Given the description of an element on the screen output the (x, y) to click on. 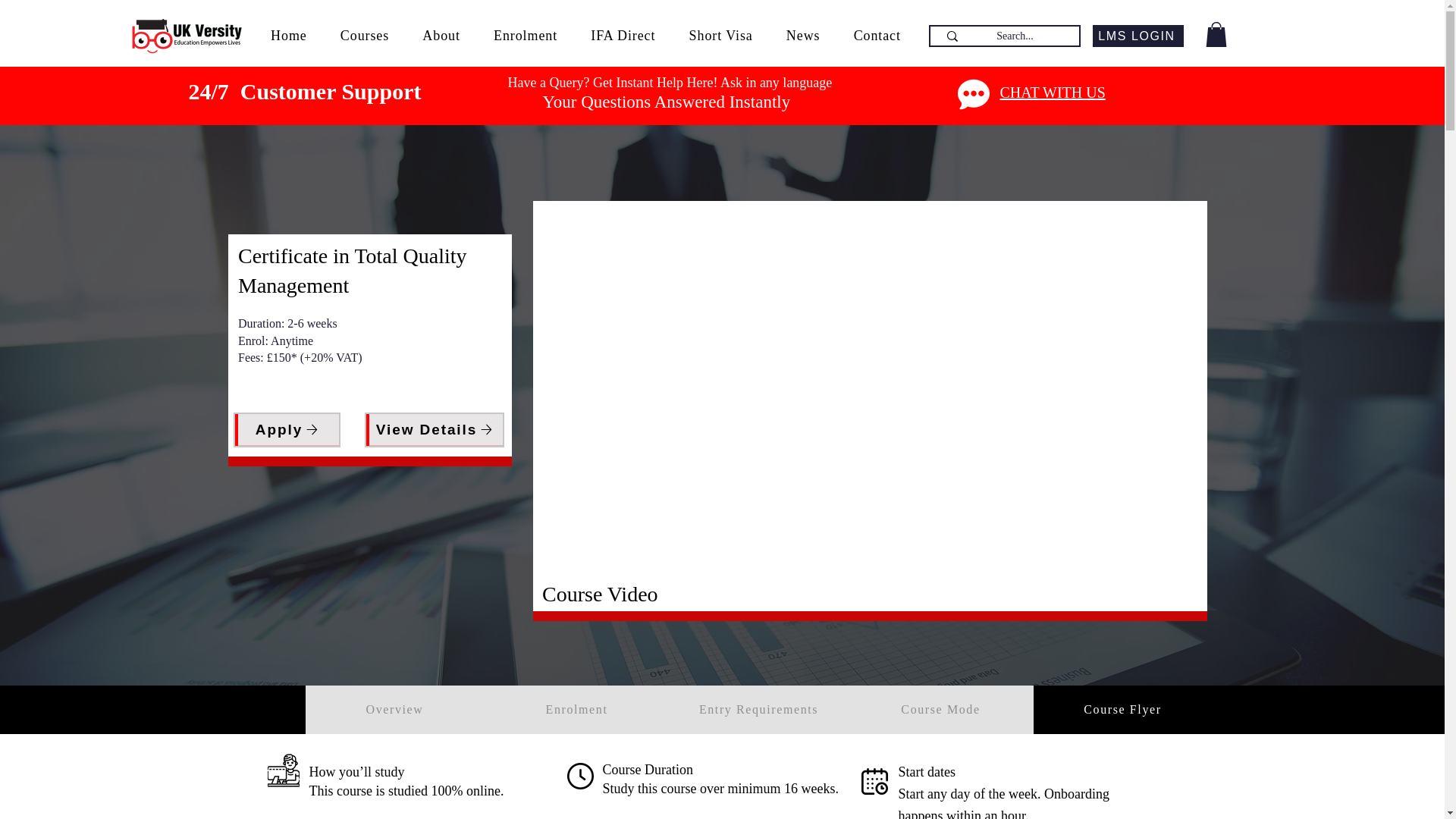
Contact (877, 35)
Entry Requirements (759, 709)
About (441, 35)
IFA Direct (622, 35)
Enrolment (525, 35)
CHAT WITH US (1051, 92)
Apply (286, 429)
Course Mode (941, 709)
Courses (364, 35)
Certificate in Total Quality Management (352, 270)
LMS LOGIN (1138, 35)
News (803, 35)
Home (288, 35)
View Details (434, 429)
Enrolment (577, 709)
